Given the description of an element on the screen output the (x, y) to click on. 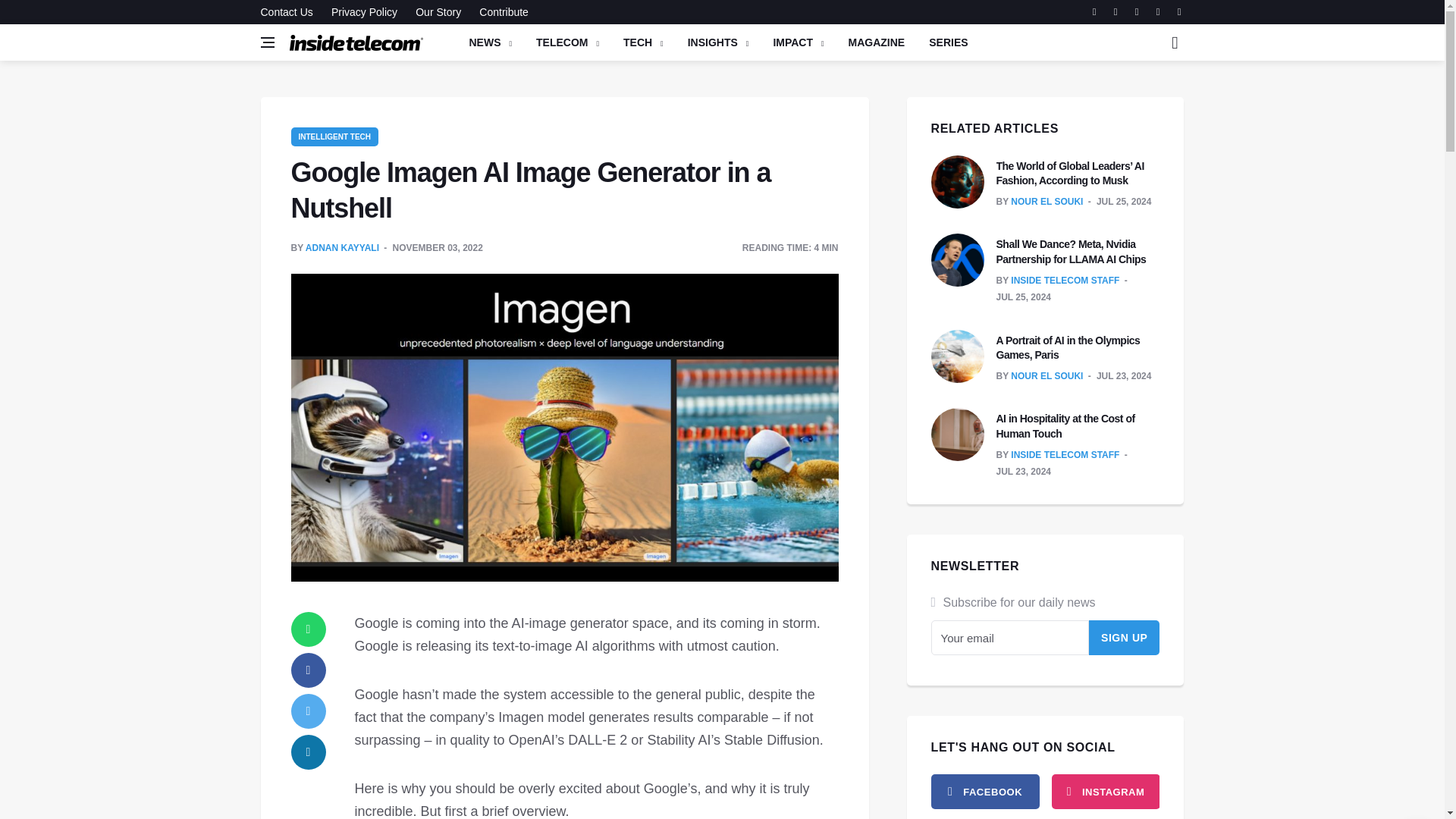
Our Story (437, 12)
Sign Up (1124, 637)
instagram (1104, 791)
Contribute (499, 12)
facebook (985, 791)
linkedin (308, 751)
Contact Us (290, 12)
whatsapp (308, 629)
twitter (308, 710)
Privacy Policy (363, 12)
facebook (308, 669)
